Given the description of an element on the screen output the (x, y) to click on. 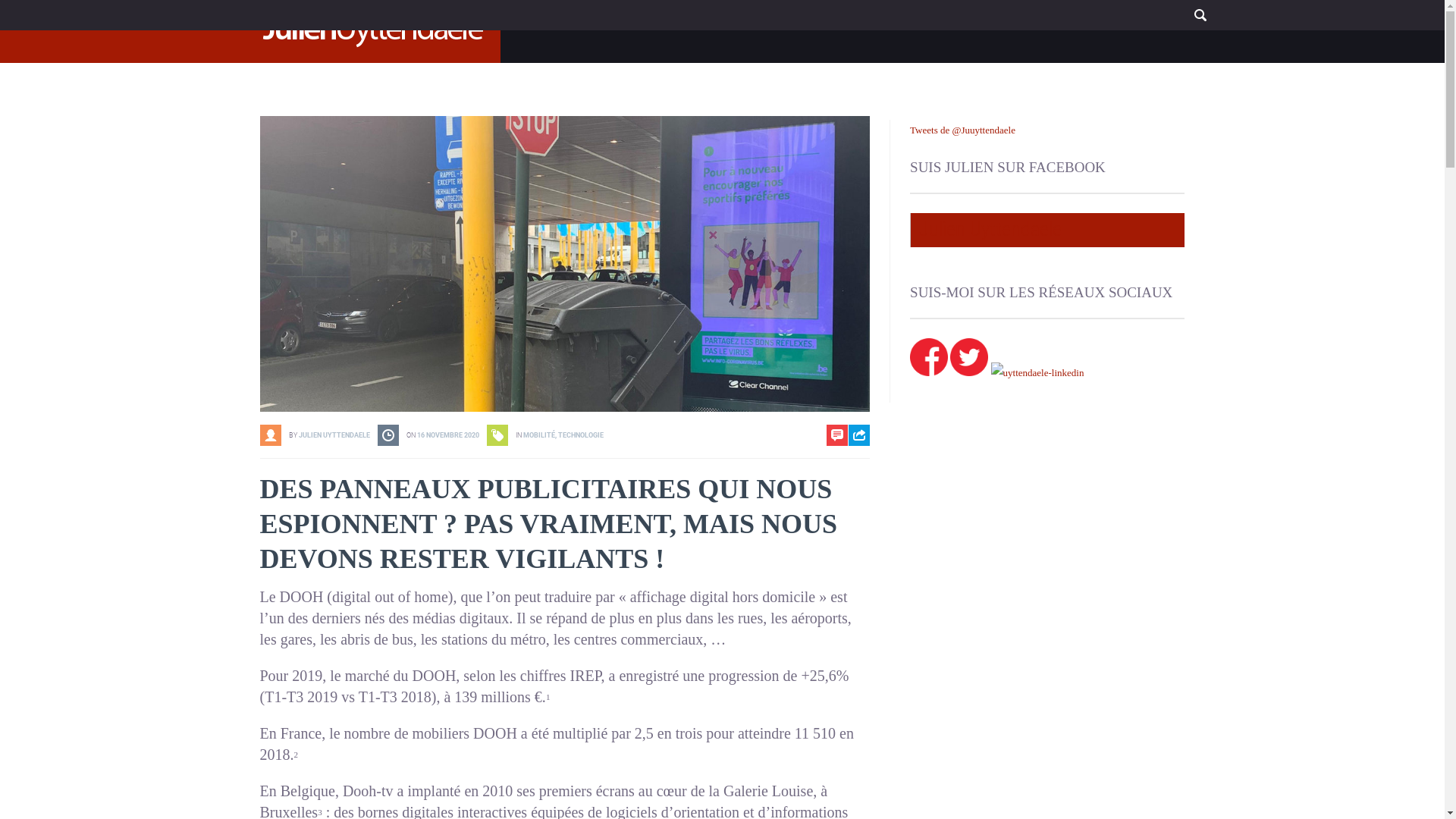
PRESSE Element type: text (1082, 24)
TECHNOLOGIE Element type: text (580, 434)
Julien Uyttendaele Element type: text (990, 228)
CONTACT Element type: text (1148, 24)
A PROPOS DE MOI Element type: text (994, 24)
HOME Element type: text (910, 24)
Tweets de @Juuyttendaele Element type: text (962, 129)
JULIEN UYTTENDAELE Element type: text (334, 434)
